Given the description of an element on the screen output the (x, y) to click on. 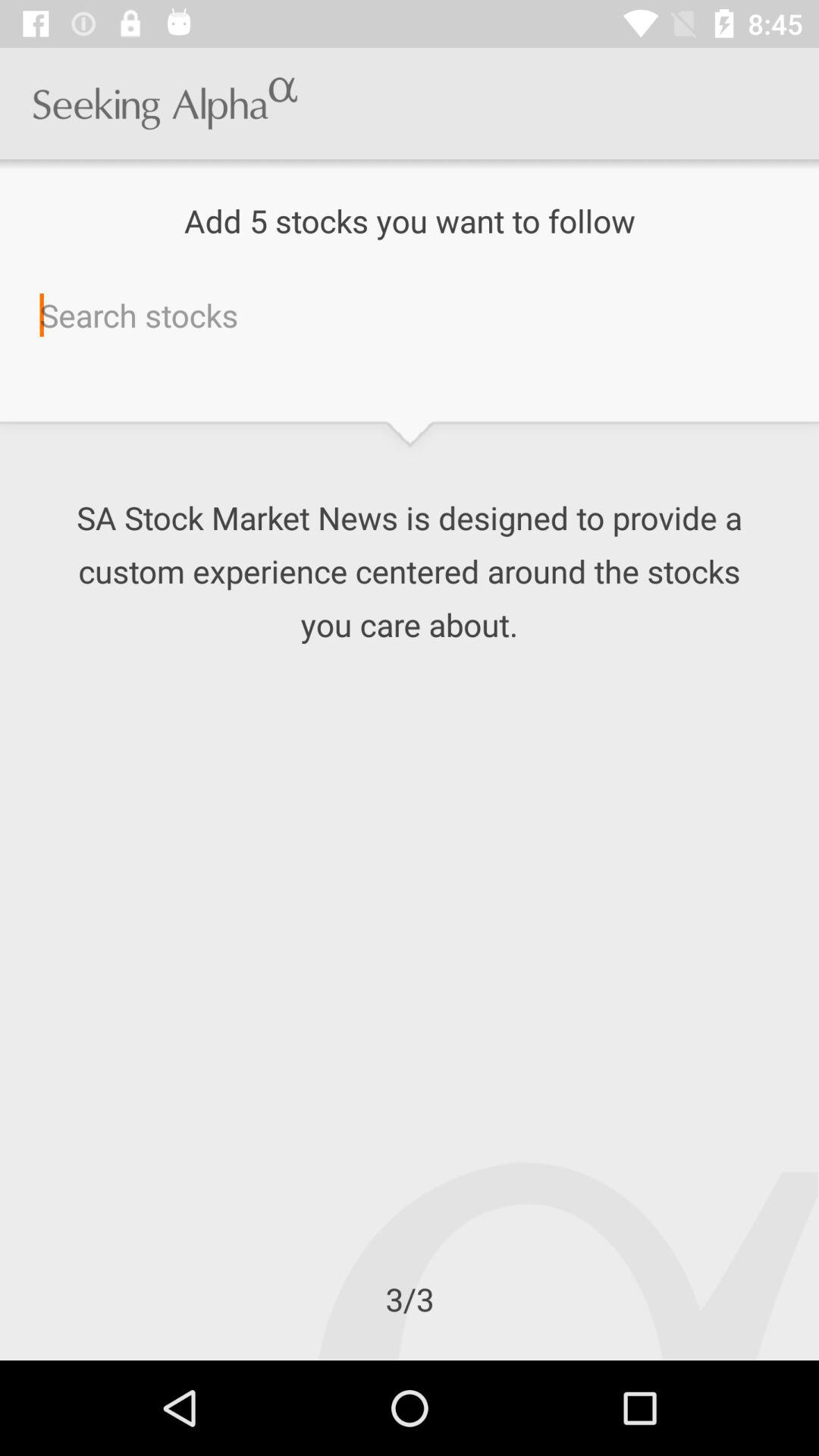
open the icon below the 3/3 icon (0, 1359)
